Given the description of an element on the screen output the (x, y) to click on. 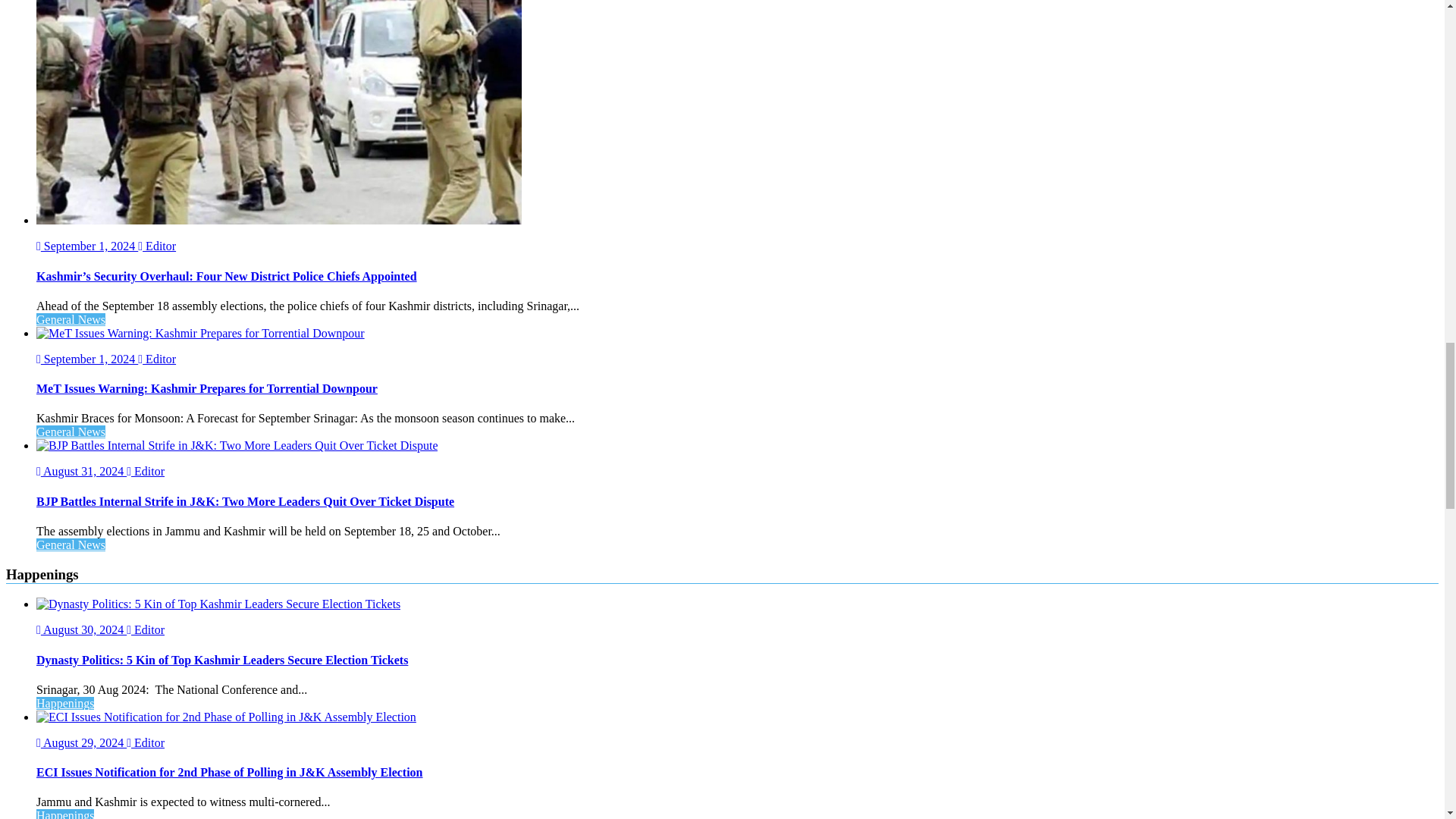
Editor (145, 629)
Editor (145, 471)
Editor (157, 245)
Editor (145, 742)
Editor (157, 358)
